Given the description of an element on the screen output the (x, y) to click on. 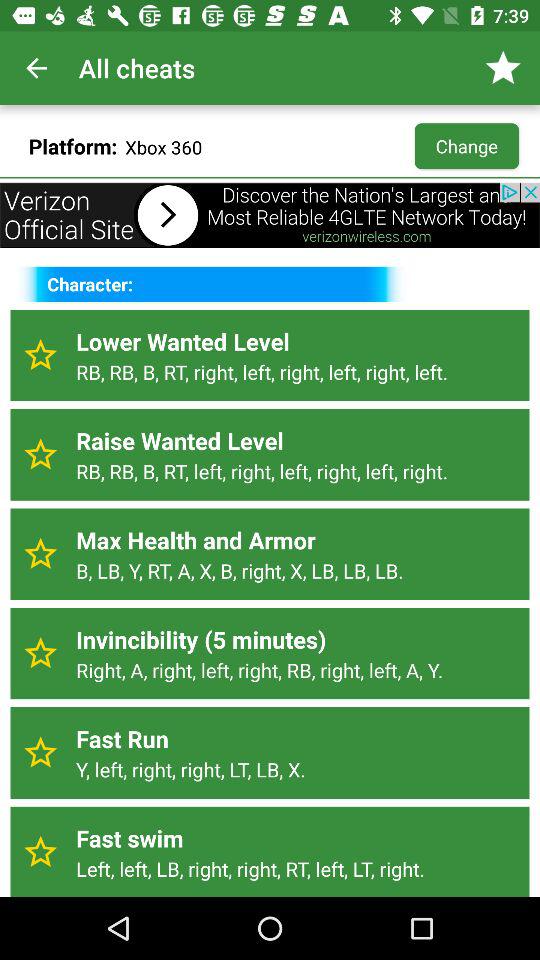
go to change (466, 145)
